Given the description of an element on the screen output the (x, y) to click on. 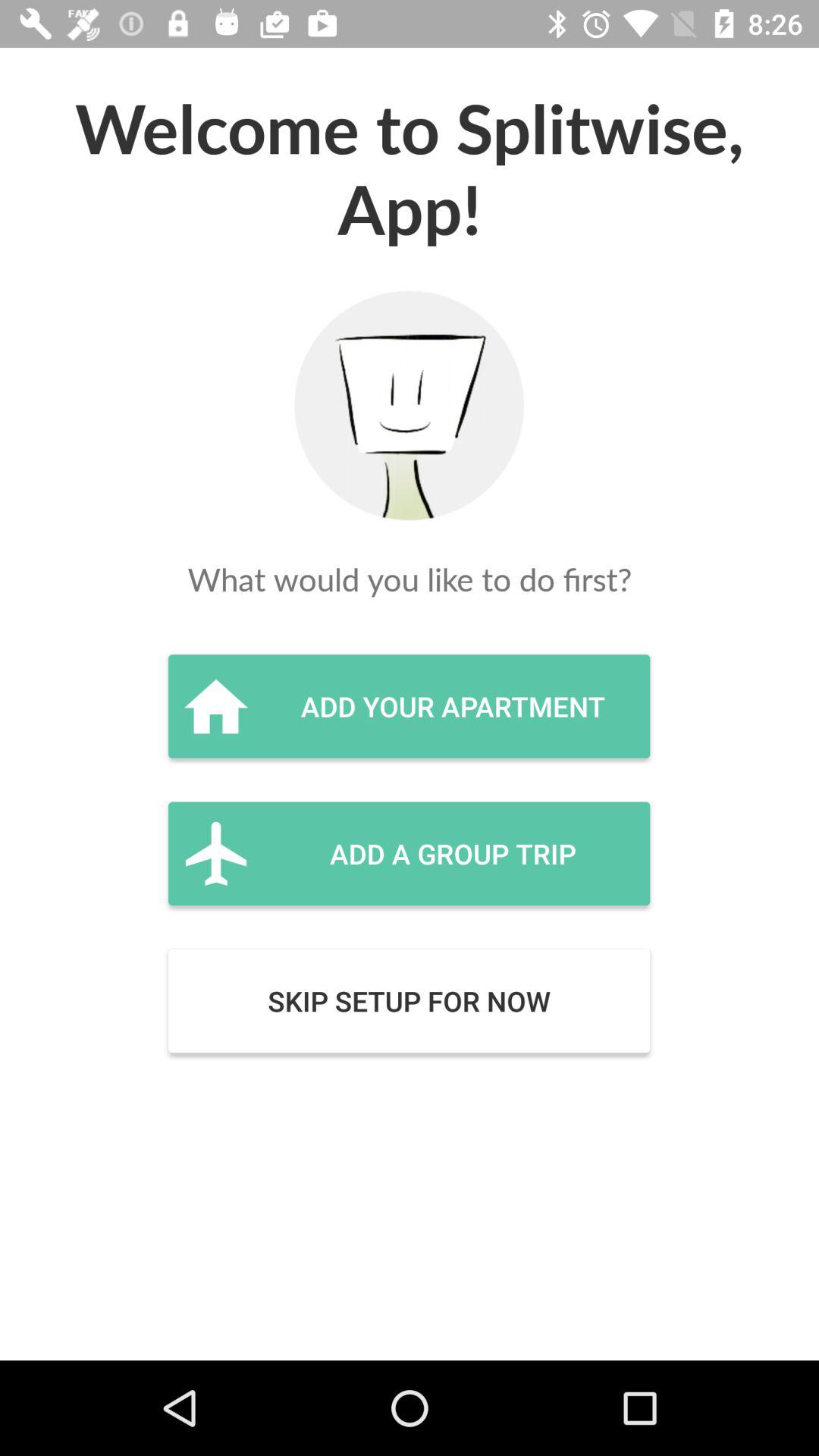
turn on the add a group (409, 853)
